Given the description of an element on the screen output the (x, y) to click on. 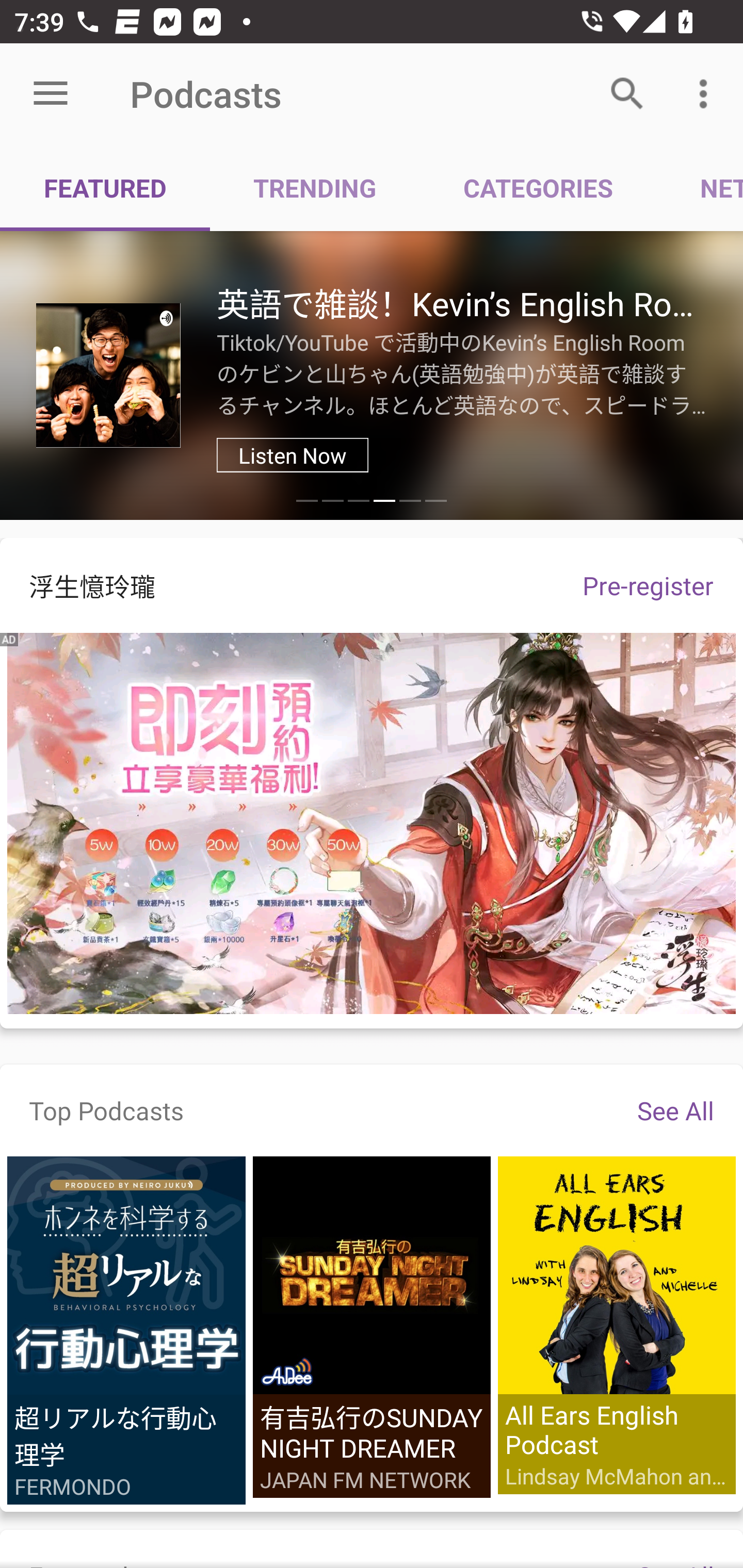
Open menu (50, 93)
Search (626, 93)
More options (706, 93)
FEATURED (105, 187)
TRENDING (314, 187)
CATEGORIES (537, 187)
浮生憶玲瓏 (276, 585)
Pre-register (648, 584)
Top Podcasts (106, 1109)
See All (675, 1109)
超リアルな行動心理学 FERMONDO (126, 1331)
有吉弘行のSUNDAY NIGHT DREAMER JAPAN FM NETWORK (371, 1327)
